Given the description of an element on the screen output the (x, y) to click on. 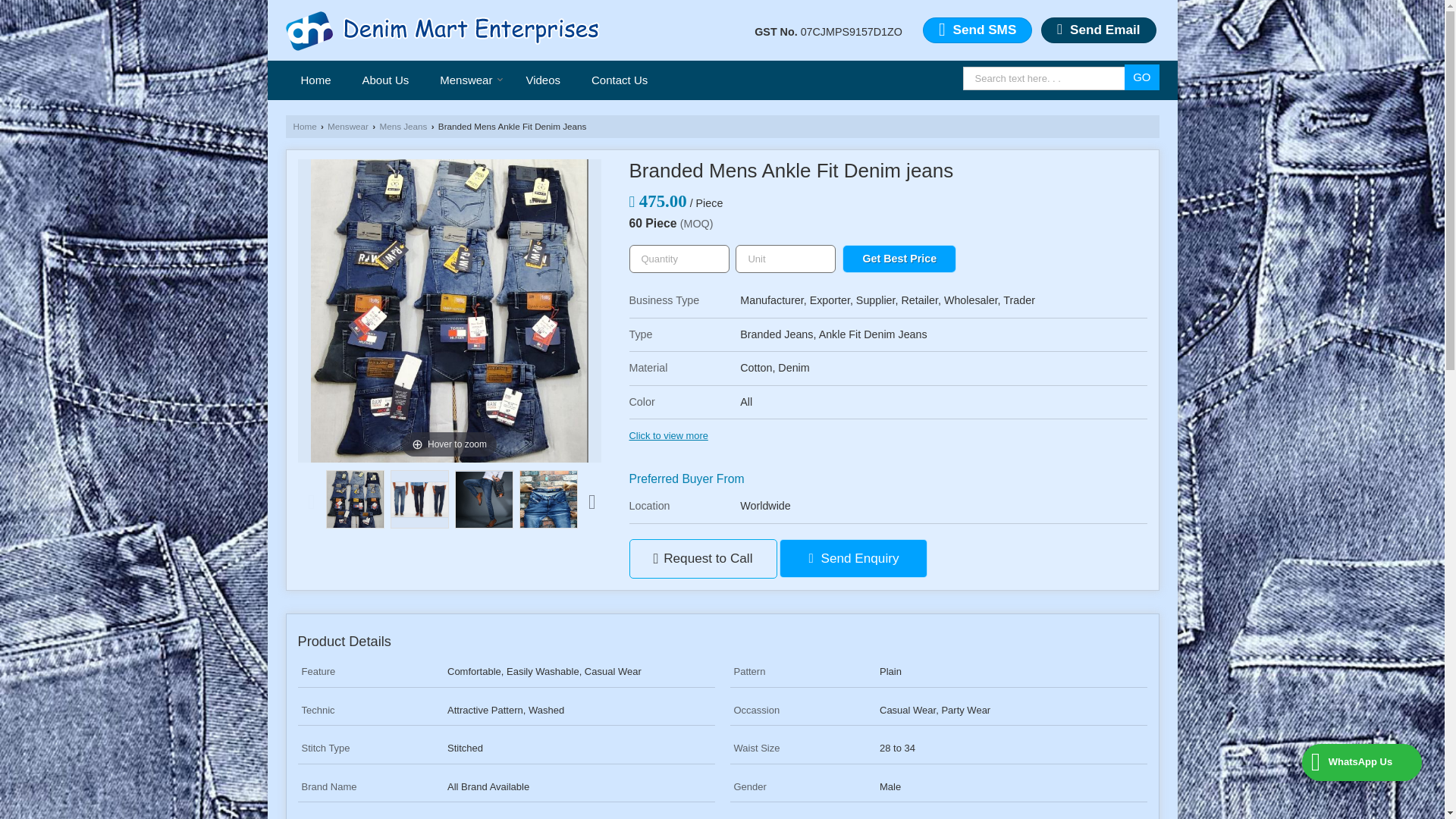
Menswear (467, 80)
About Us (386, 80)
Menswear (467, 80)
Denim Mart Enterprises (442, 30)
Home (315, 80)
About Us (386, 80)
Videos (543, 80)
Home (303, 126)
Contact Us (619, 80)
Denim Mart Enterprises (442, 30)
Home (315, 80)
